Given the description of an element on the screen output the (x, y) to click on. 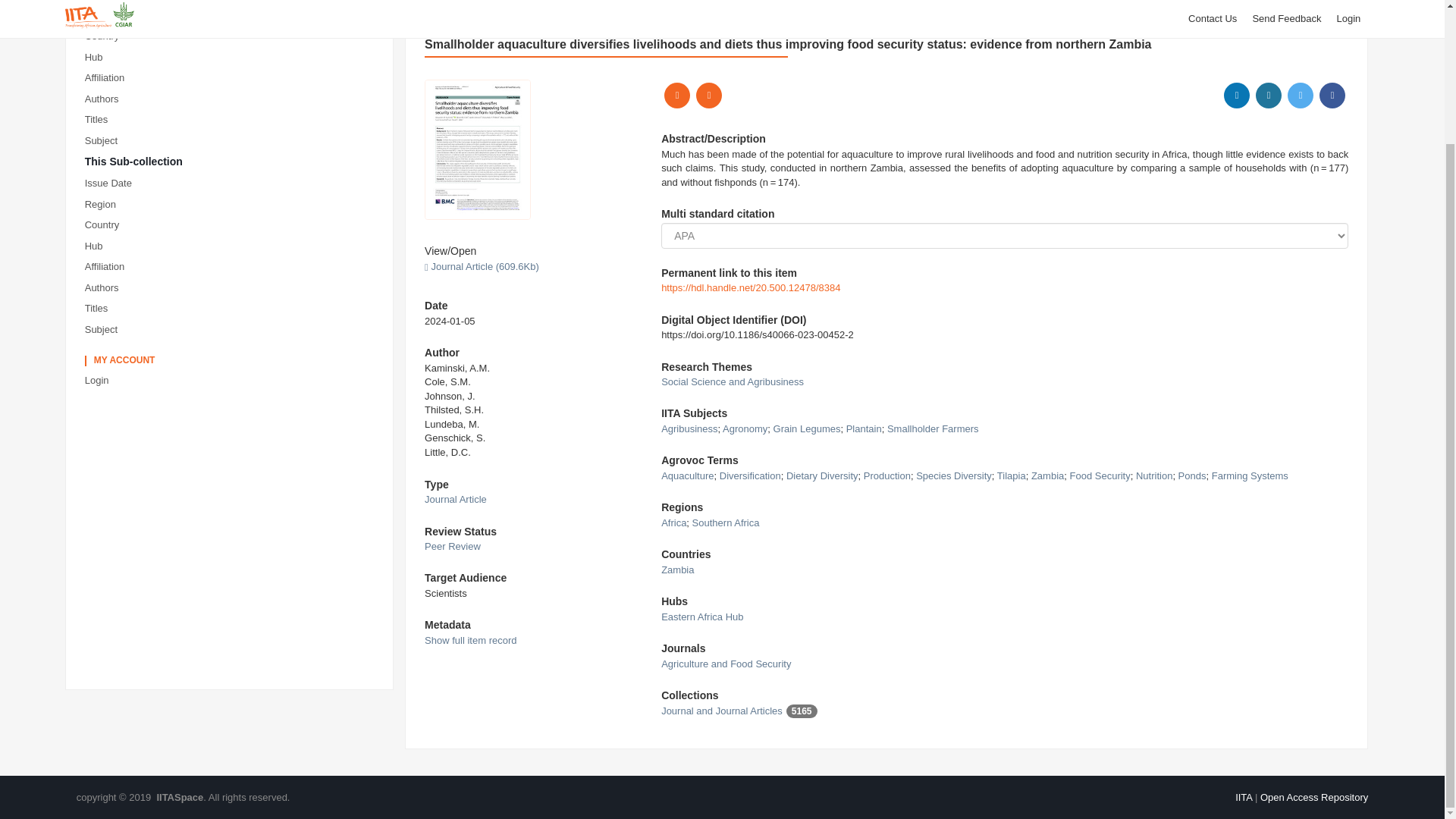
Share on LinkedIn (1236, 95)
Peer Review (452, 546)
Subject (232, 330)
Share on Facebook (1332, 95)
Tweet (1300, 95)
Hub (232, 246)
Region (232, 205)
This Sub-collection (232, 162)
Show full item record (470, 640)
Region (232, 15)
